Given the description of an element on the screen output the (x, y) to click on. 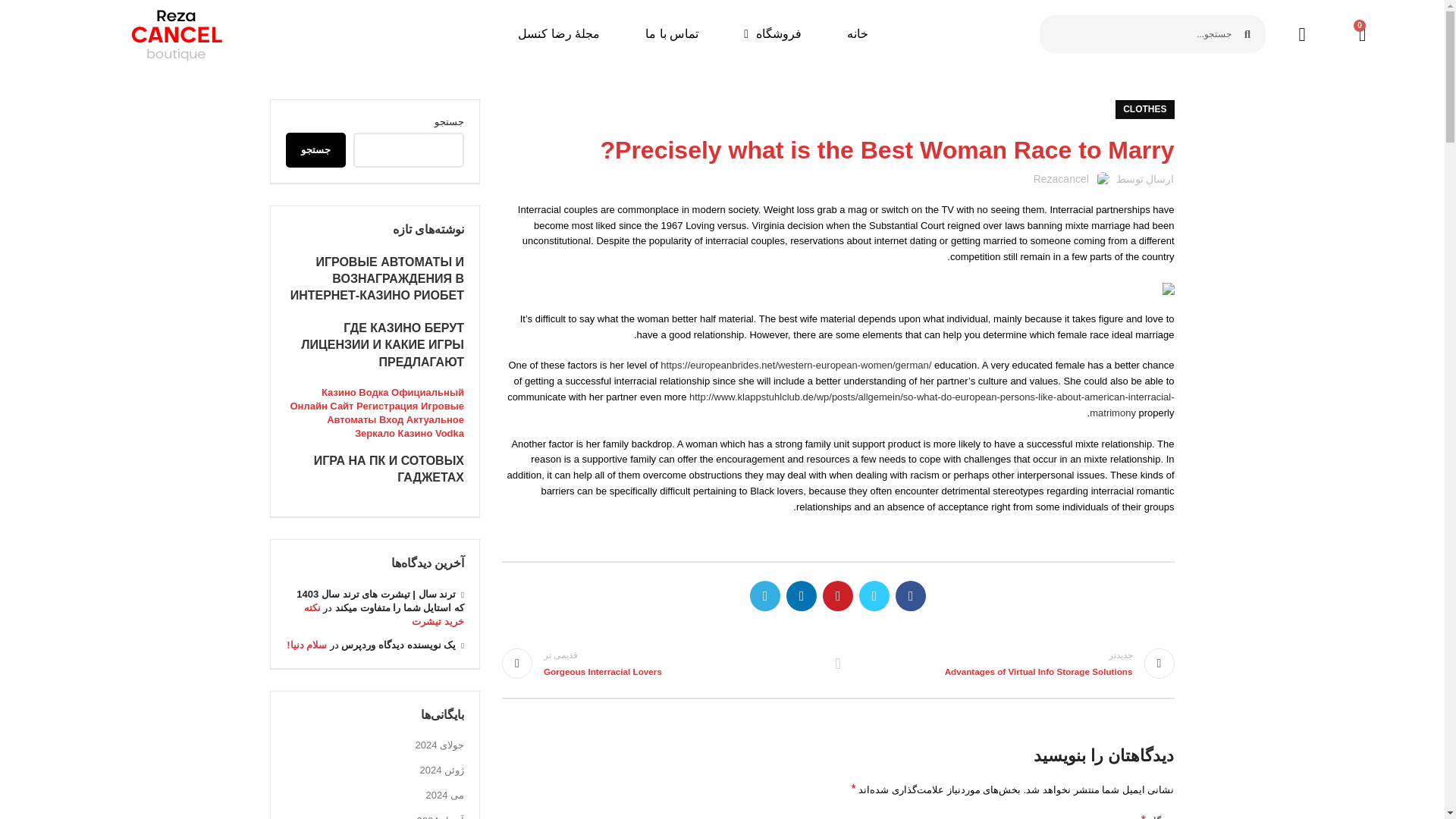
Rezacancel (1061, 178)
CLOTHES (1144, 108)
